Given the description of an element on the screen output the (x, y) to click on. 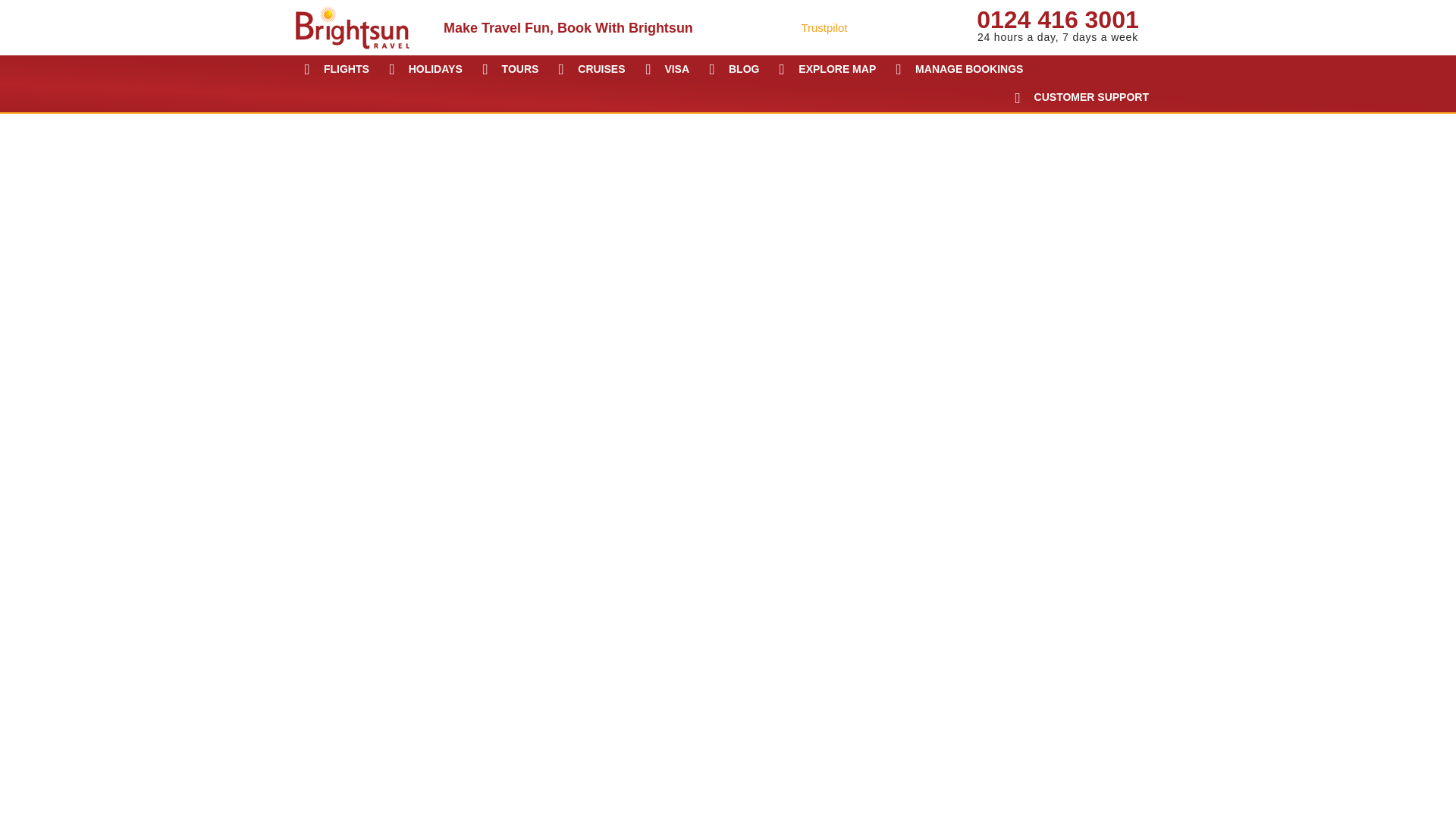
FLIGHTS (337, 69)
Trustpilot (1057, 24)
